Given the description of an element on the screen output the (x, y) to click on. 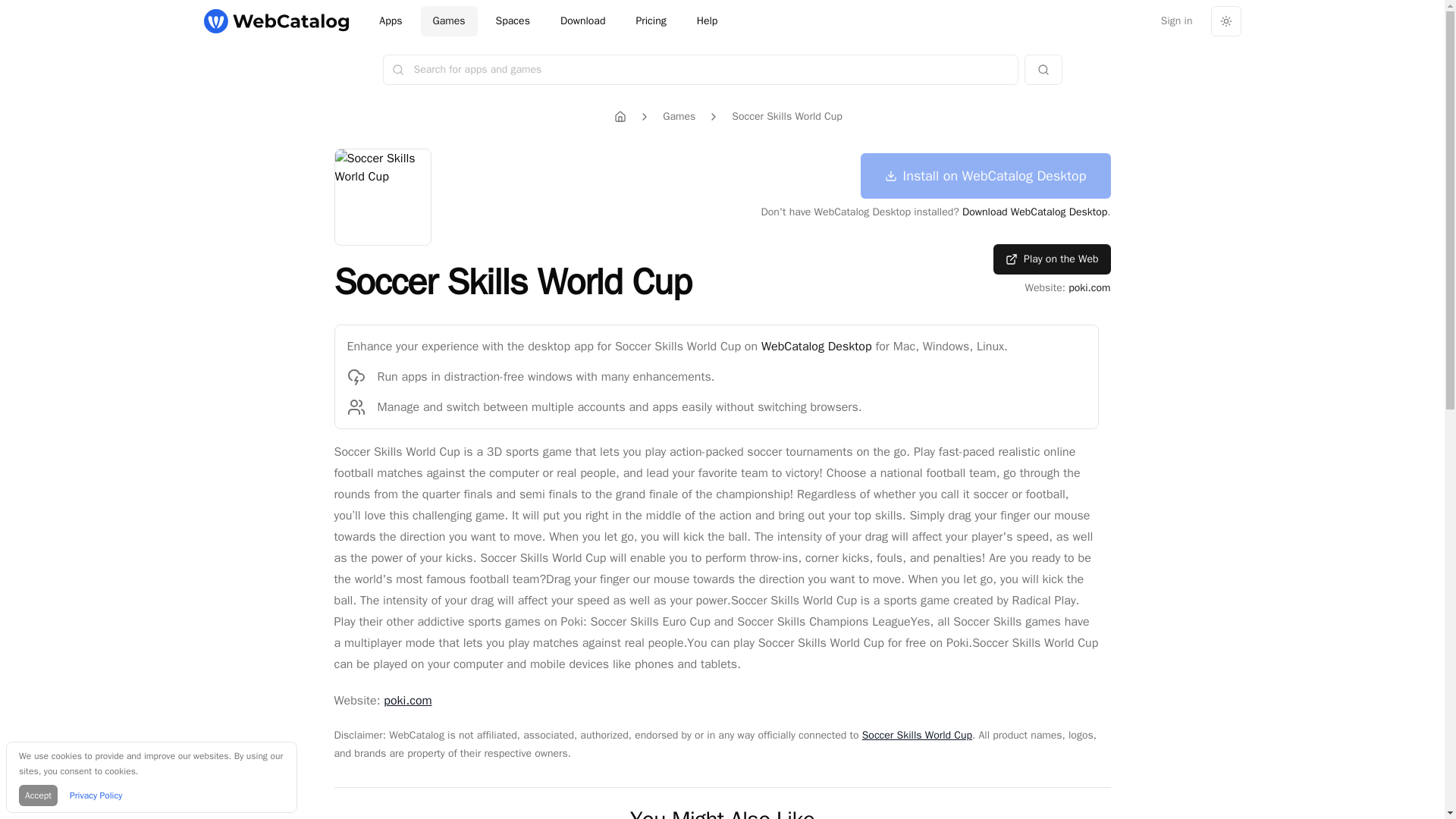
Soccer Skills World Cup (916, 735)
WebCatalog Desktop (816, 346)
Apps (389, 20)
Games (678, 116)
Install on WebCatalog Desktop (985, 176)
Download WebCatalog Desktop (1034, 211)
Search (1042, 69)
Pricing (650, 20)
Soccer Skills World Cup (786, 116)
Play on the Web (1050, 259)
poki.com (407, 700)
Help (707, 20)
Sign in (1176, 20)
Download (582, 20)
Appearance (1224, 20)
